Given the description of an element on the screen output the (x, y) to click on. 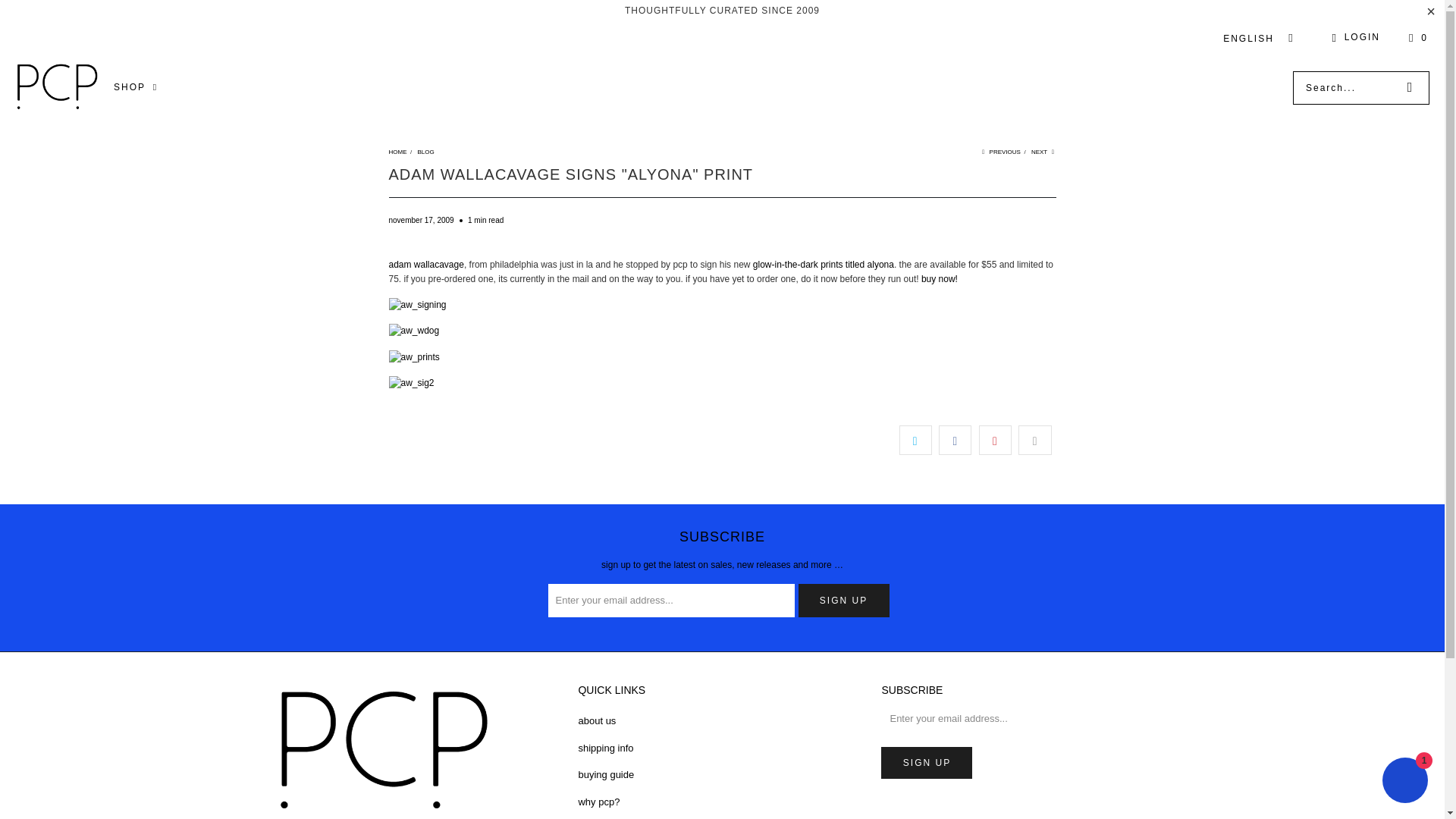
Sign Up (926, 762)
Share this on Facebook (955, 440)
Poster Child Prints (397, 151)
Blog (424, 151)
Share this on Pinterest (994, 440)
My Account  (1353, 37)
Share this on Twitter (915, 440)
Sign Up (842, 600)
Poster Child Prints (56, 87)
